Given the description of an element on the screen output the (x, y) to click on. 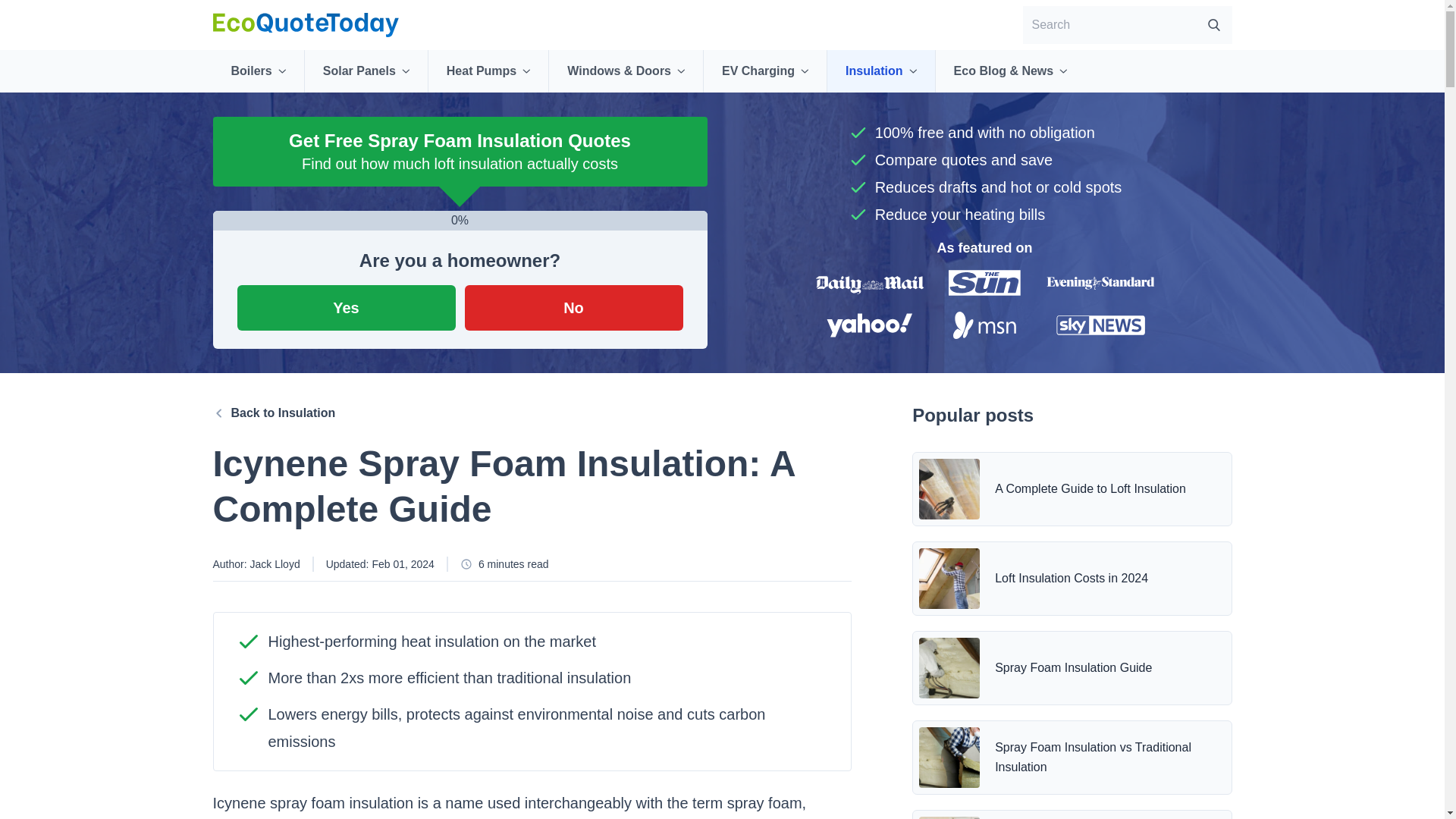
Boilers (257, 70)
Heat Pumps (488, 70)
Solar Panels (366, 70)
